Given the description of an element on the screen output the (x, y) to click on. 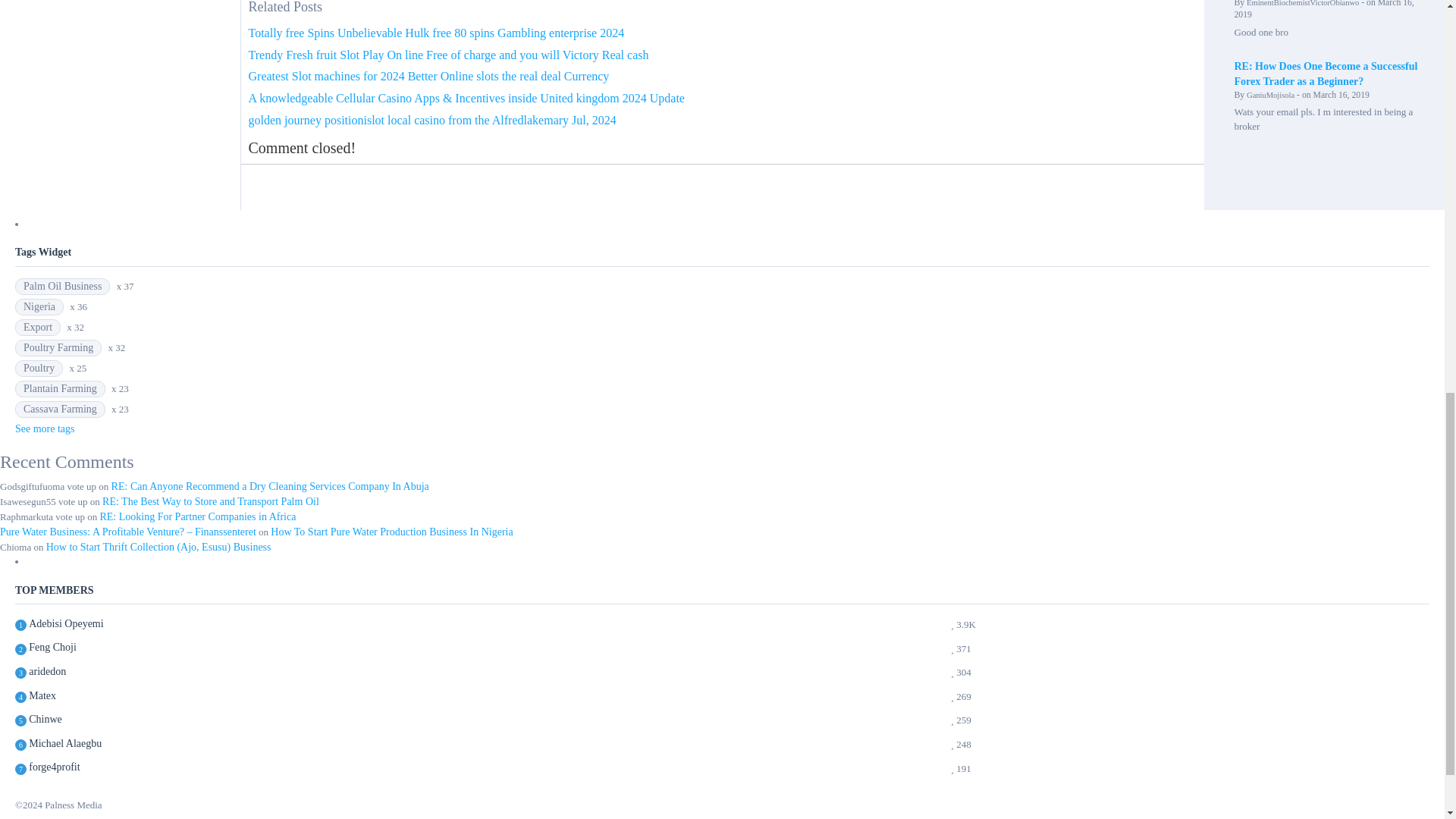
259 (45, 719)
371 (53, 647)
304 (47, 671)
269 (42, 695)
3907 (66, 623)
248 (65, 743)
